Given the description of an element on the screen output the (x, y) to click on. 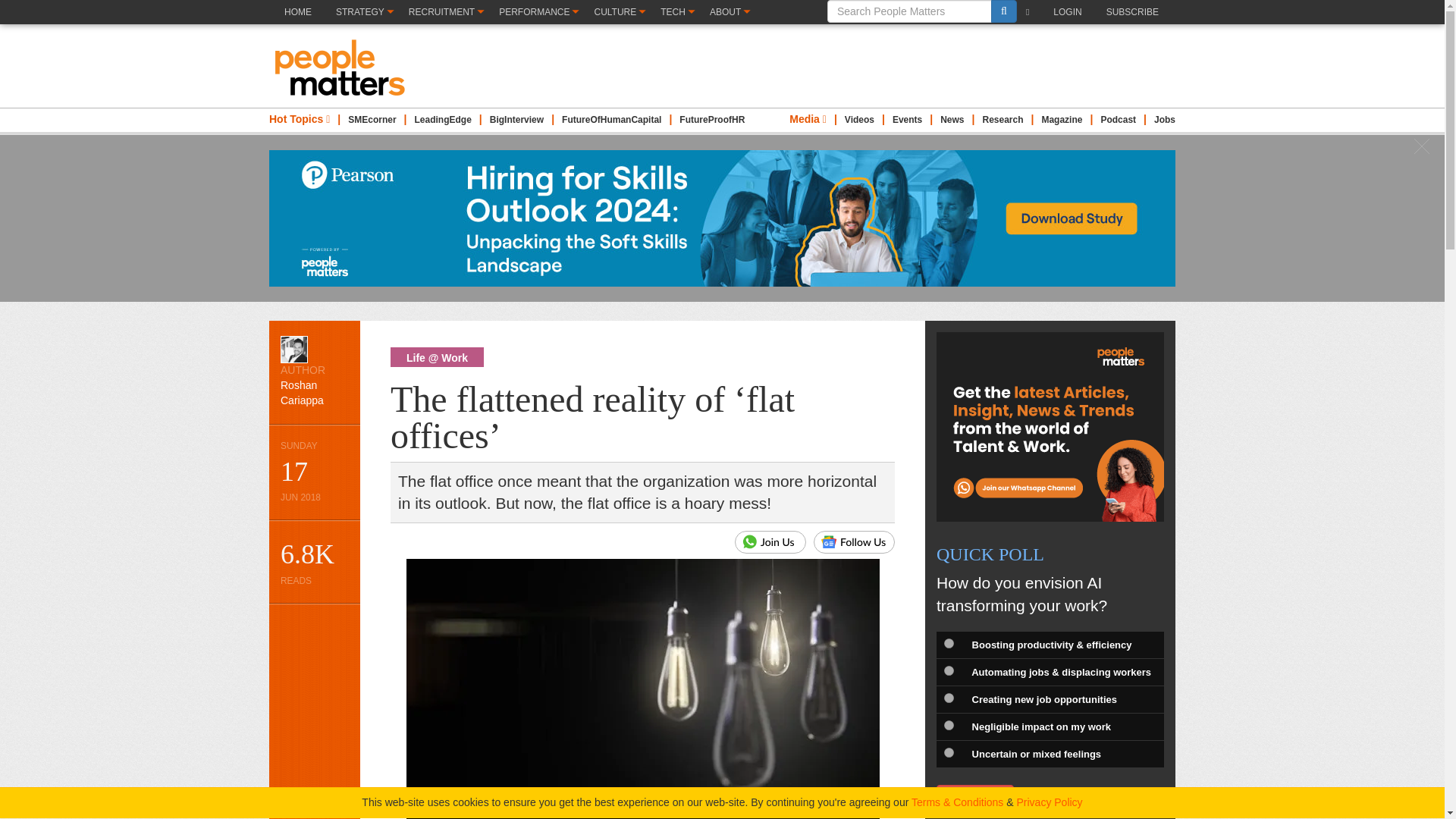
RECRUITMENT (445, 12)
320 (948, 643)
322 (948, 697)
STRATEGY (363, 12)
323 (948, 725)
321 (948, 670)
324 (948, 752)
HOME (297, 24)
